Given the description of an element on the screen output the (x, y) to click on. 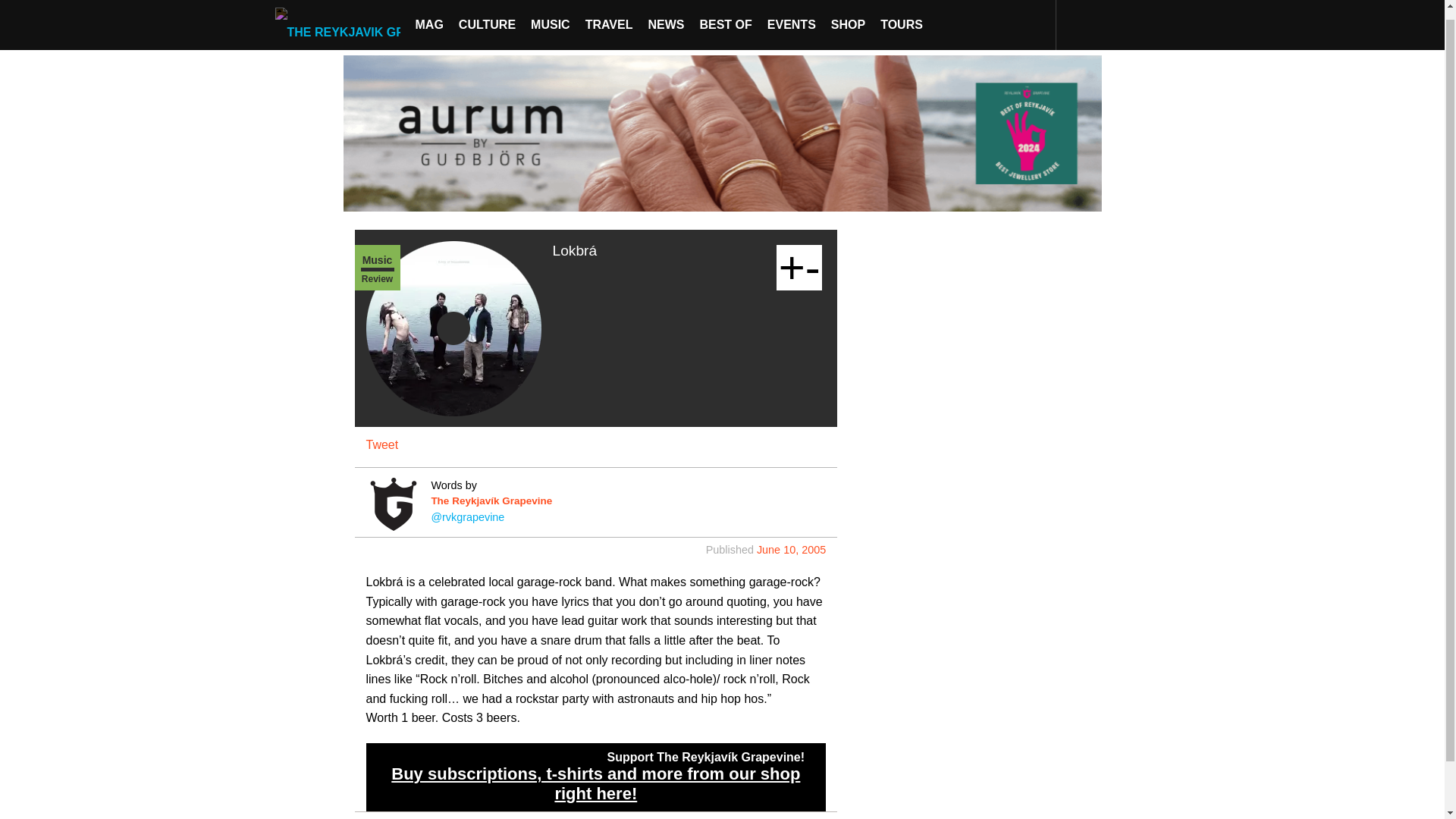
TOURS (901, 20)
NEWS (665, 20)
CULTURE (486, 20)
MAG (429, 20)
BEST OF (724, 20)
SHOP (848, 20)
MUSIC (550, 20)
TRAVEL (609, 20)
EVENTS (792, 20)
